Given the description of an element on the screen output the (x, y) to click on. 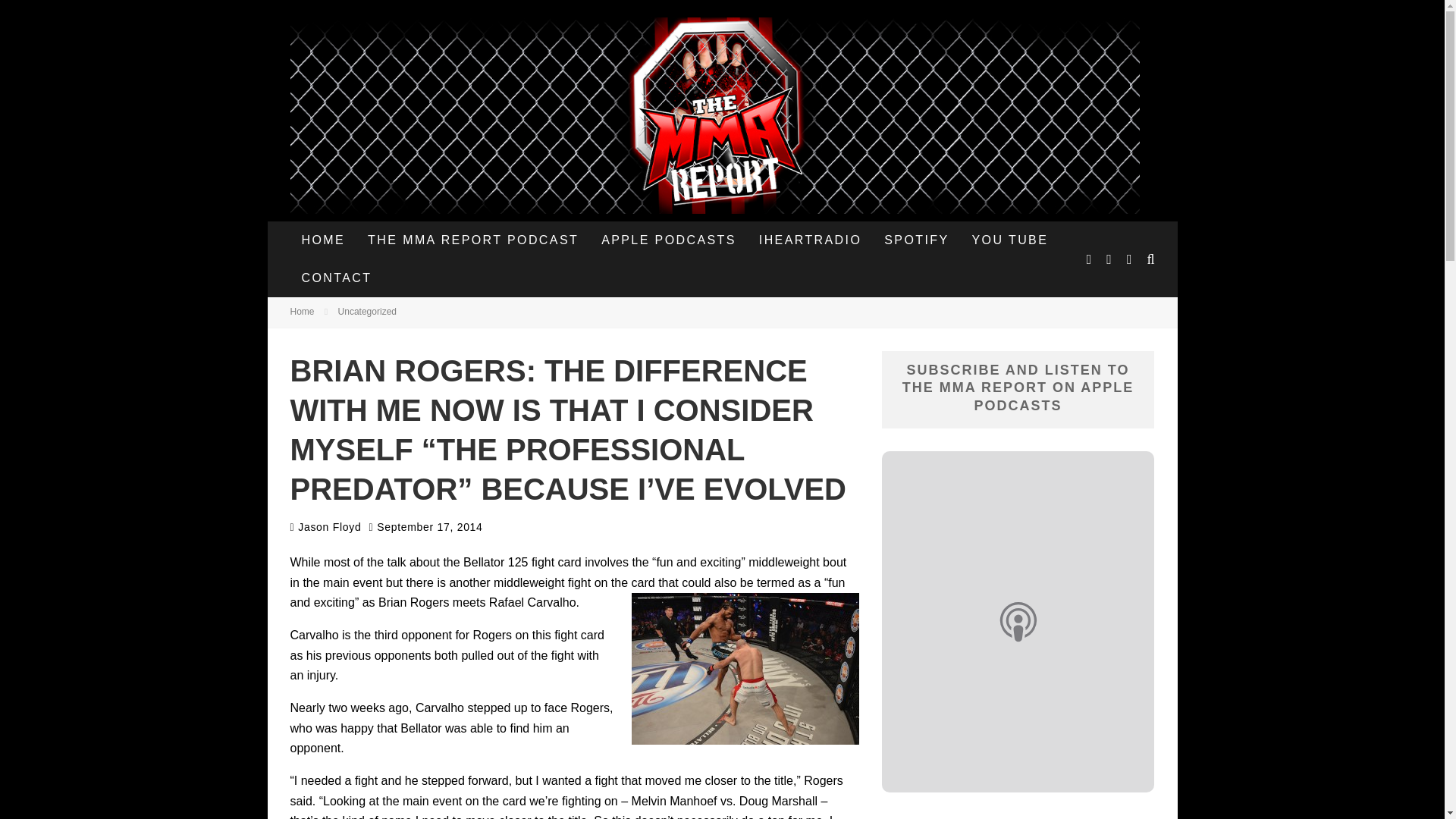
Jason Floyd (325, 526)
Home (301, 311)
Uncategorized (366, 311)
HOME (322, 240)
IHEARTRADIO (810, 240)
CONTACT (335, 278)
THE MMA REPORT PODCAST (472, 240)
SPOTIFY (915, 240)
APPLE PODCASTS (668, 240)
YOU TUBE (1009, 240)
